Given the description of an element on the screen output the (x, y) to click on. 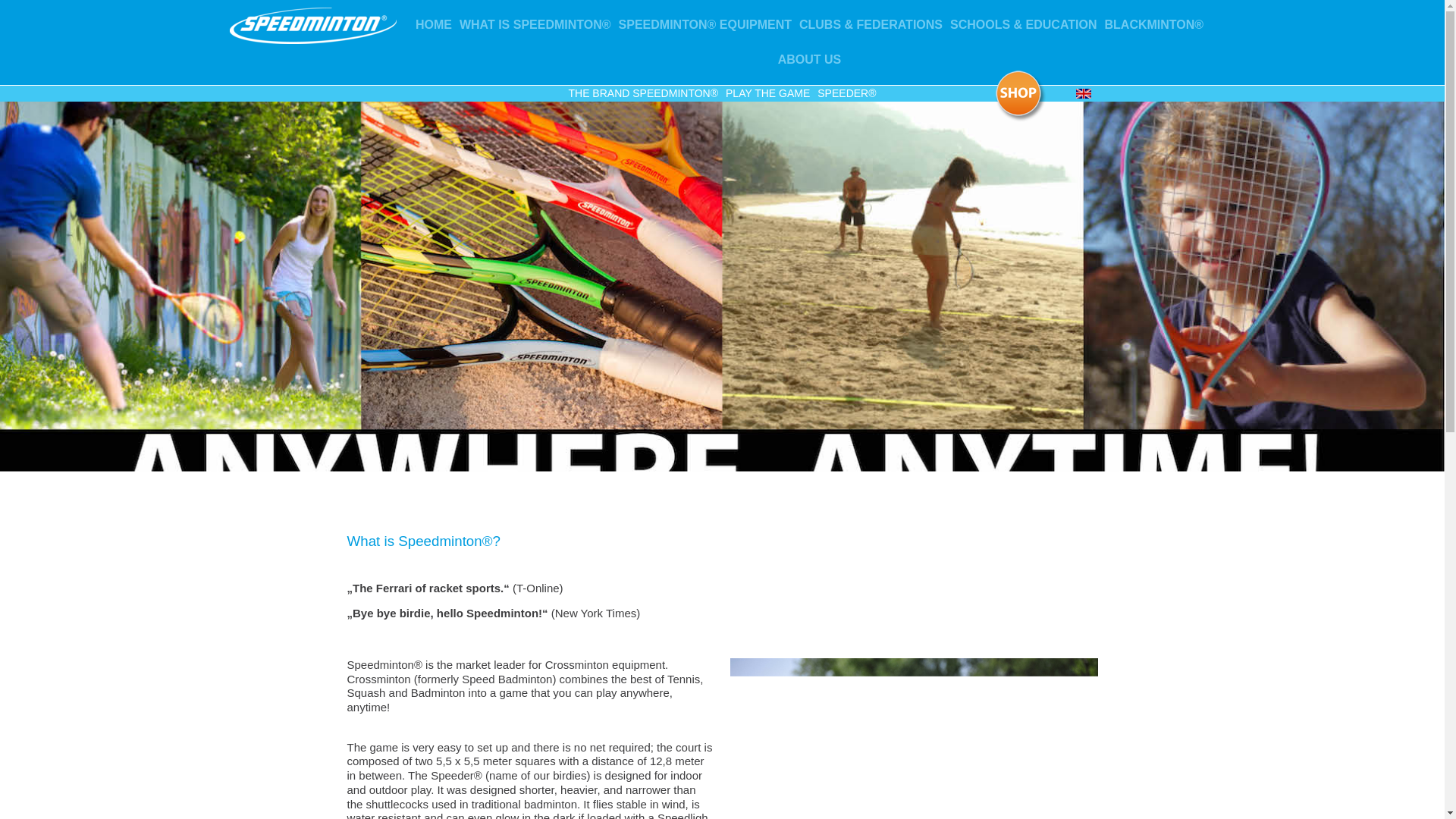
PLAY THE GAME (767, 92)
HOME (433, 24)
ABOUT US (809, 59)
English (1082, 93)
